Given the description of an element on the screen output the (x, y) to click on. 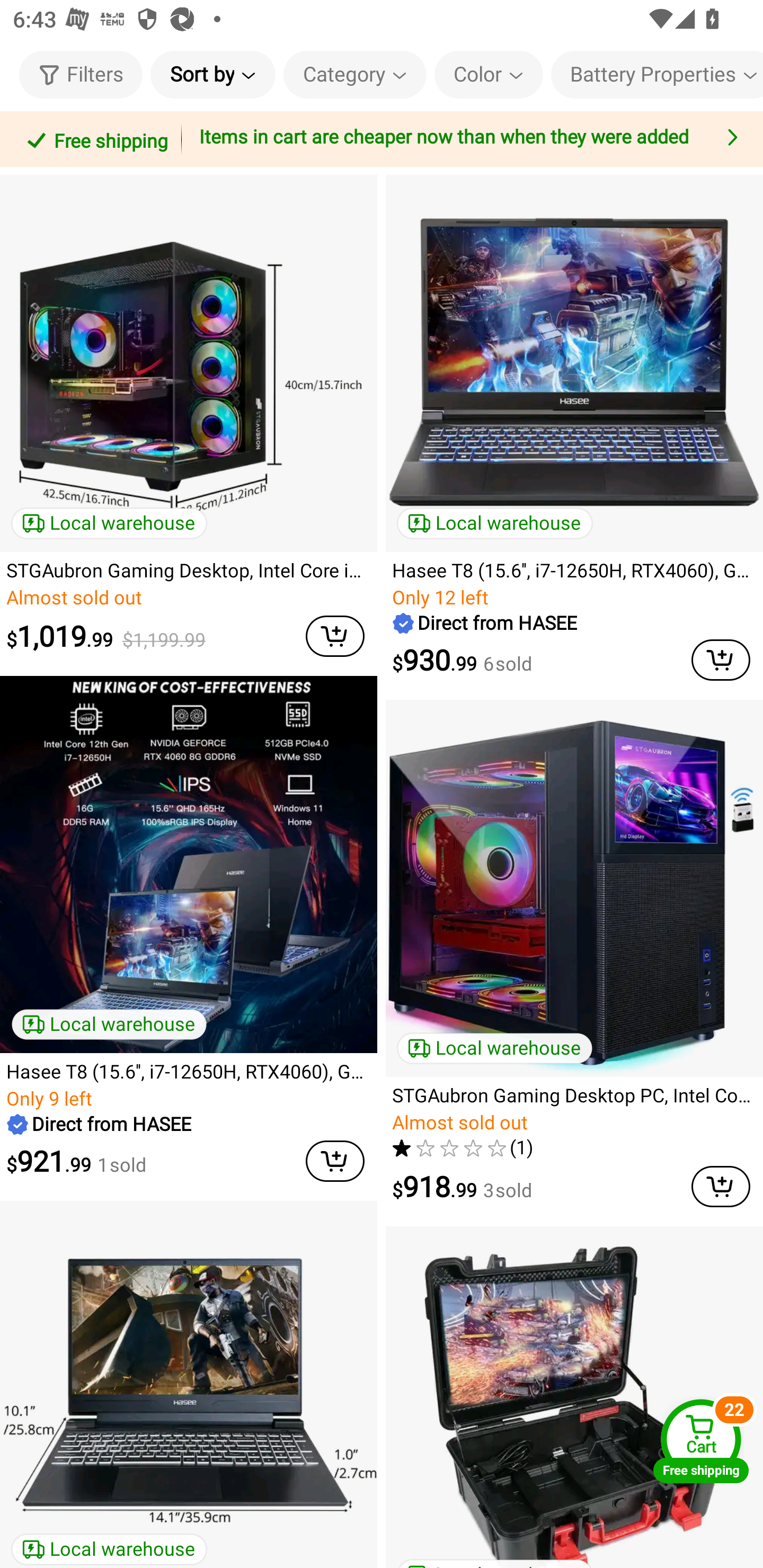
Filters (80, 74)
Sort by (212, 74)
Category (354, 74)
Color (488, 74)
Battery Properties (656, 74)
 Free shipping (93, 138)
cart delete (334, 636)
cart delete (720, 659)
cart delete (334, 1160)
cart delete (720, 1186)
Cart Free shipping Cart (701, 1440)
